Given the description of an element on the screen output the (x, y) to click on. 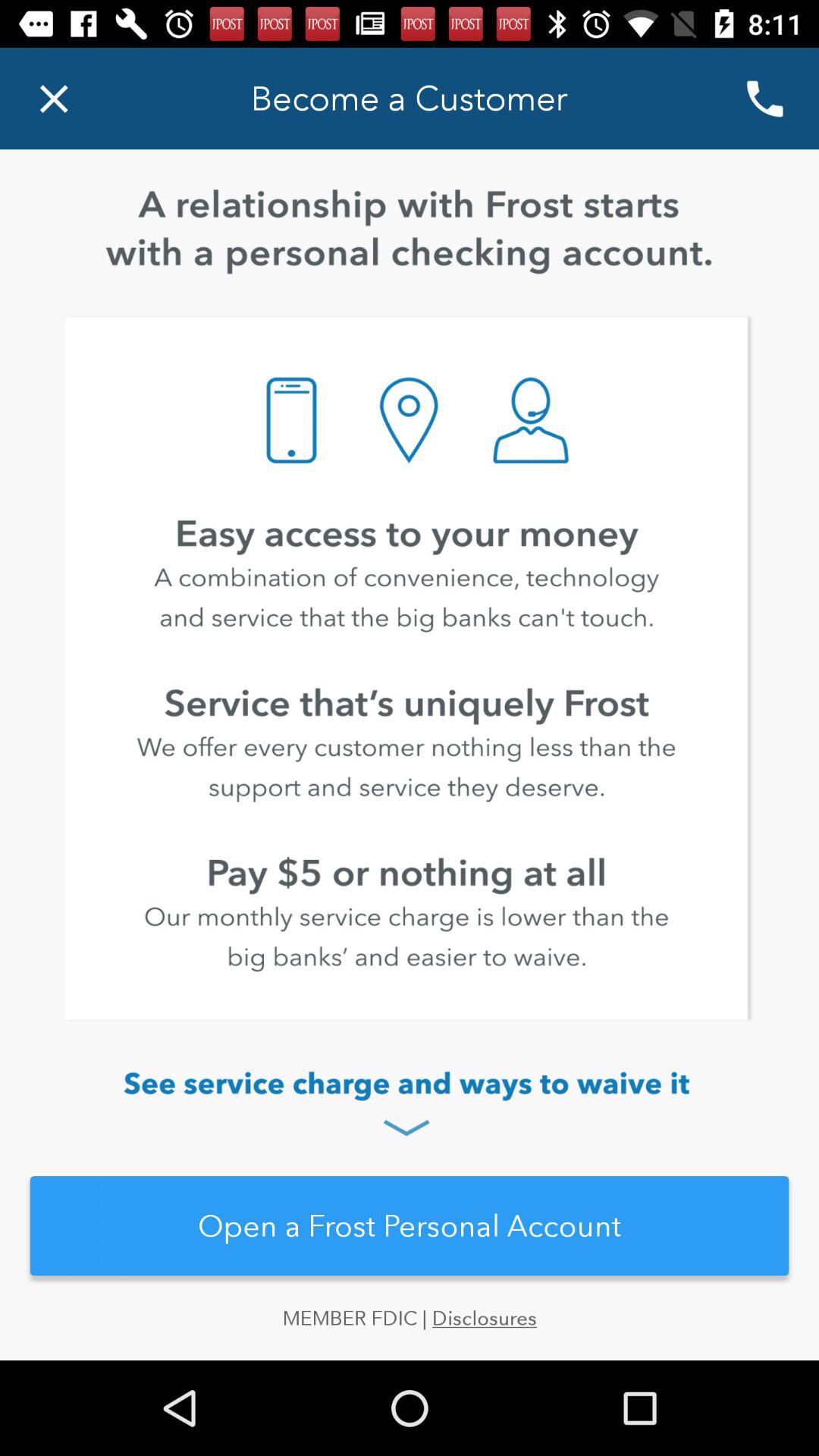
scroll to open a frost (409, 1225)
